Given the description of an element on the screen output the (x, y) to click on. 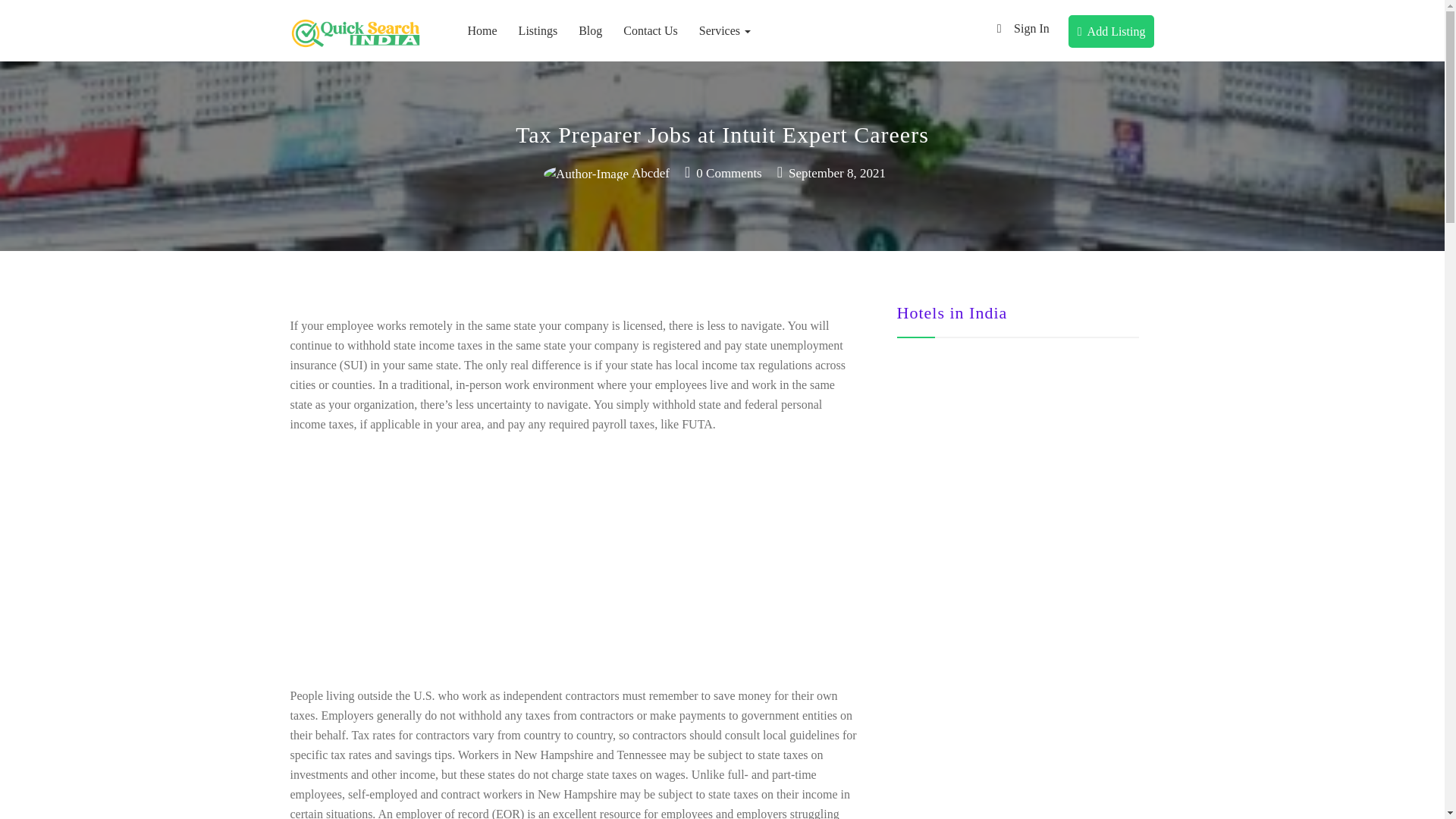
Contact Us (650, 30)
Quick Search India (355, 88)
Listings (538, 30)
Services (724, 30)
